Given the description of an element on the screen output the (x, y) to click on. 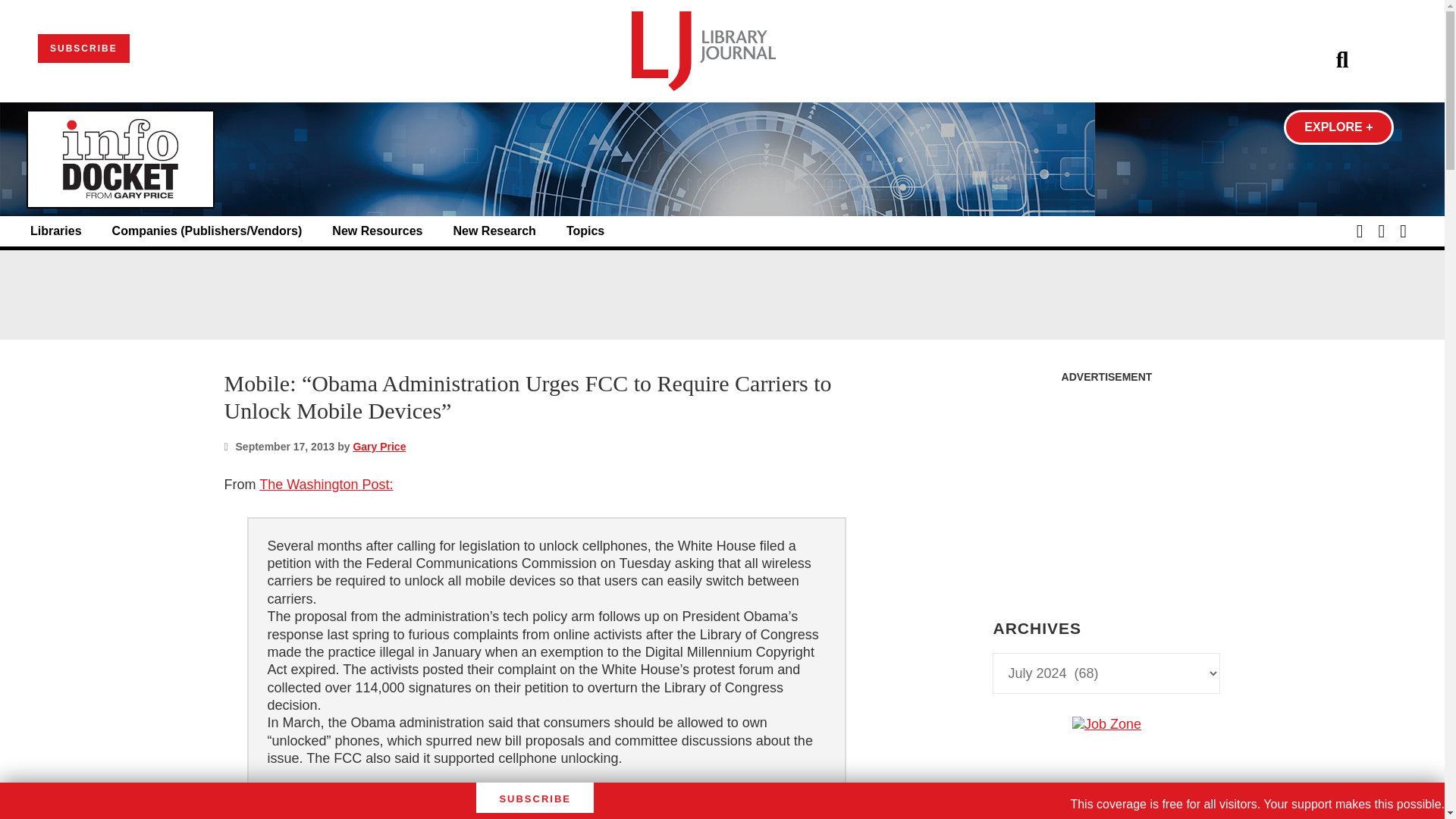
SUBSCRIBE (83, 48)
3rd party ad content (1106, 816)
Libraries (55, 231)
3rd party ad content (1106, 485)
New Resources (376, 231)
3rd party ad content (721, 294)
